Given the description of an element on the screen output the (x, y) to click on. 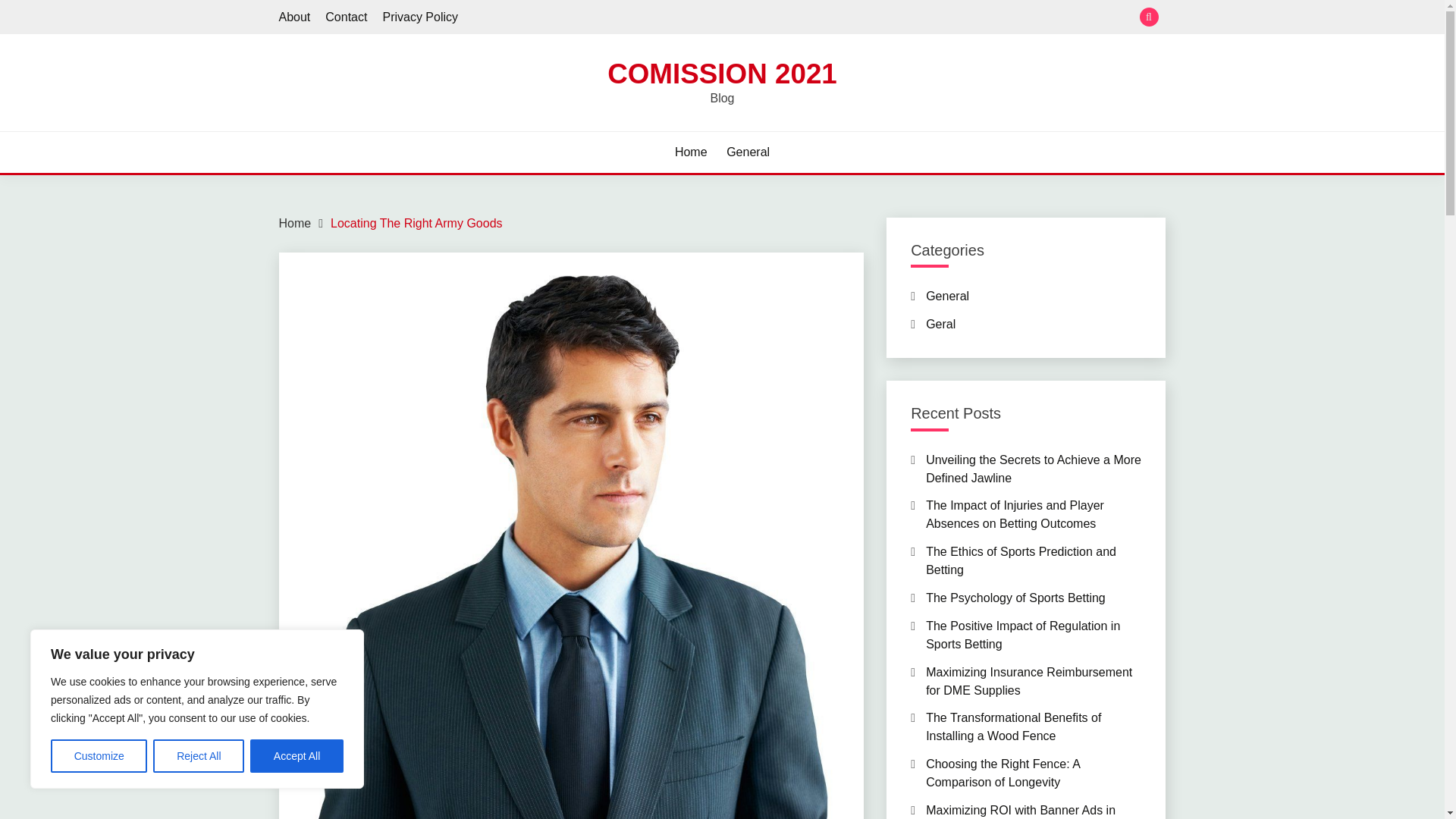
Home (691, 152)
Home (295, 223)
About (295, 16)
Customize (98, 756)
Locating The Right Army Goods (416, 223)
Reject All (198, 756)
Privacy Policy (419, 16)
General (748, 152)
COMISSION 2021 (722, 73)
Contact (345, 16)
Accept All (296, 756)
